Given the description of an element on the screen output the (x, y) to click on. 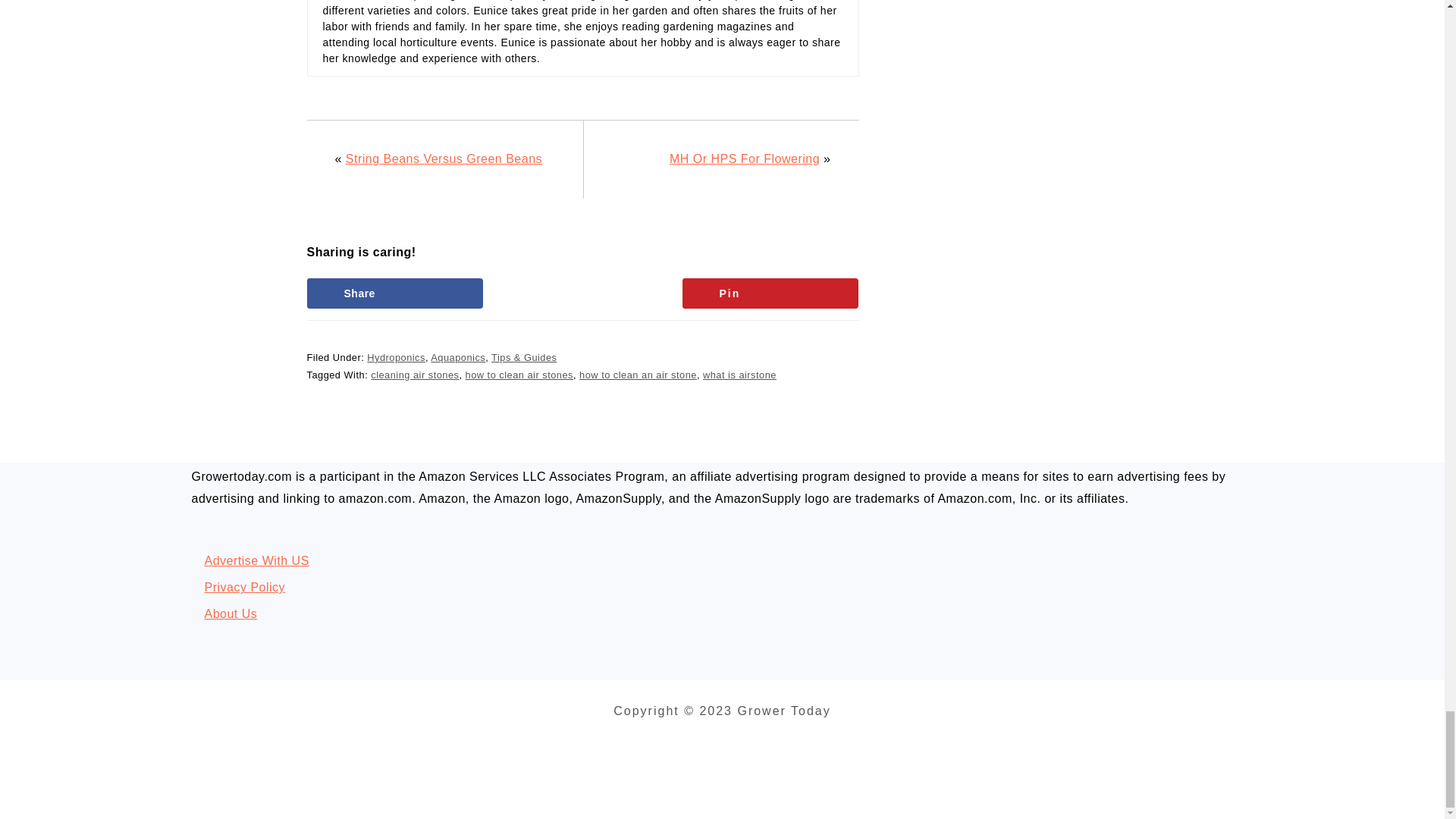
Save to Pinterest (770, 293)
Share on Facebook (394, 293)
MH Or HPS For Flowering (744, 158)
String Beans Versus Green Beans (443, 158)
Share on X (583, 293)
